Given the description of an element on the screen output the (x, y) to click on. 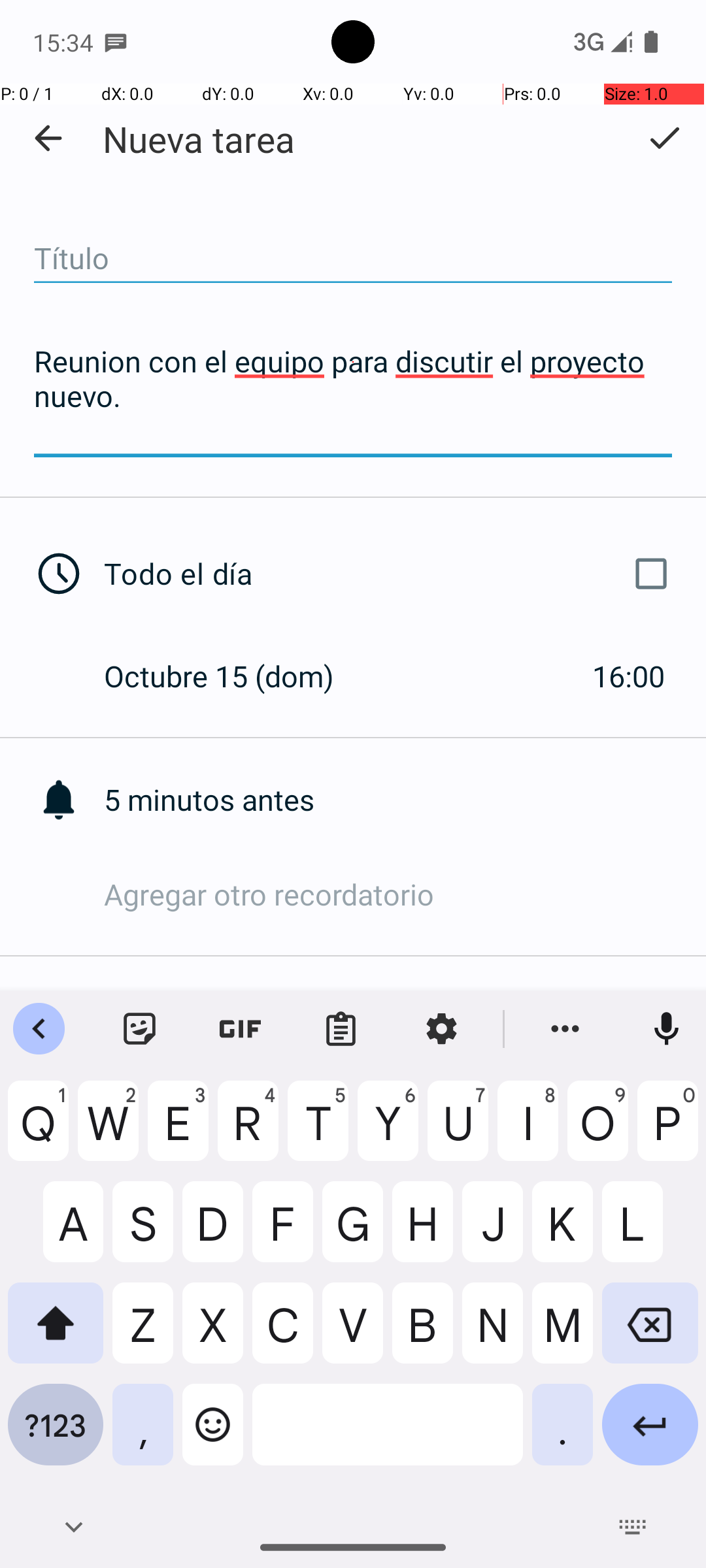
Nueva tarea Element type: android.widget.TextView (198, 138)
Título Element type: android.widget.EditText (352, 258)
Reunion con el equipo para discutir el proyecto nuevo.
 Element type: android.widget.EditText (352, 396)
5 minutos antes Element type: android.widget.TextView (404, 798)
Agregar otro recordatorio Element type: android.widget.TextView (404, 893)
